Given the description of an element on the screen output the (x, y) to click on. 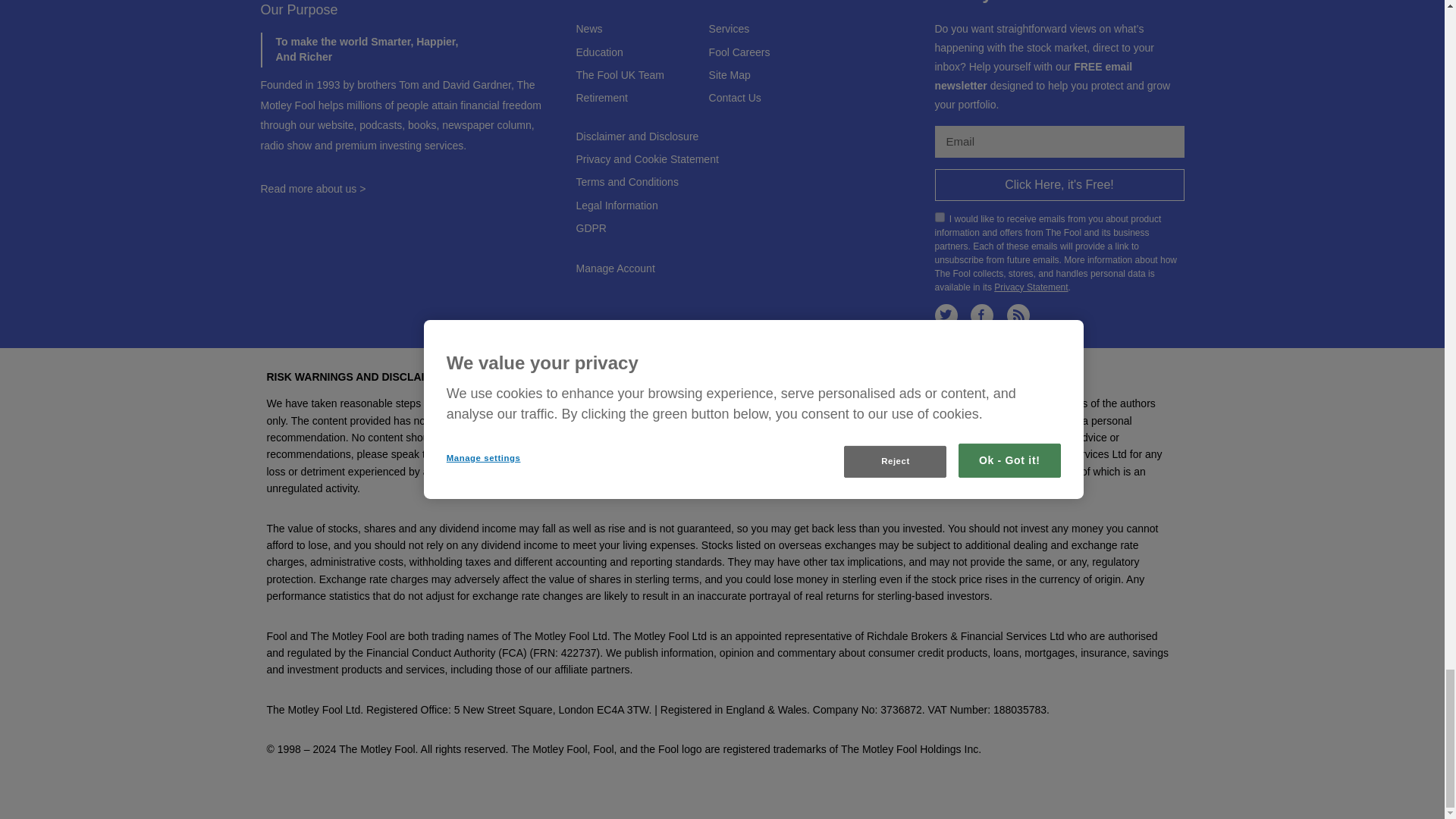
true (938, 216)
